Given the description of an element on the screen output the (x, y) to click on. 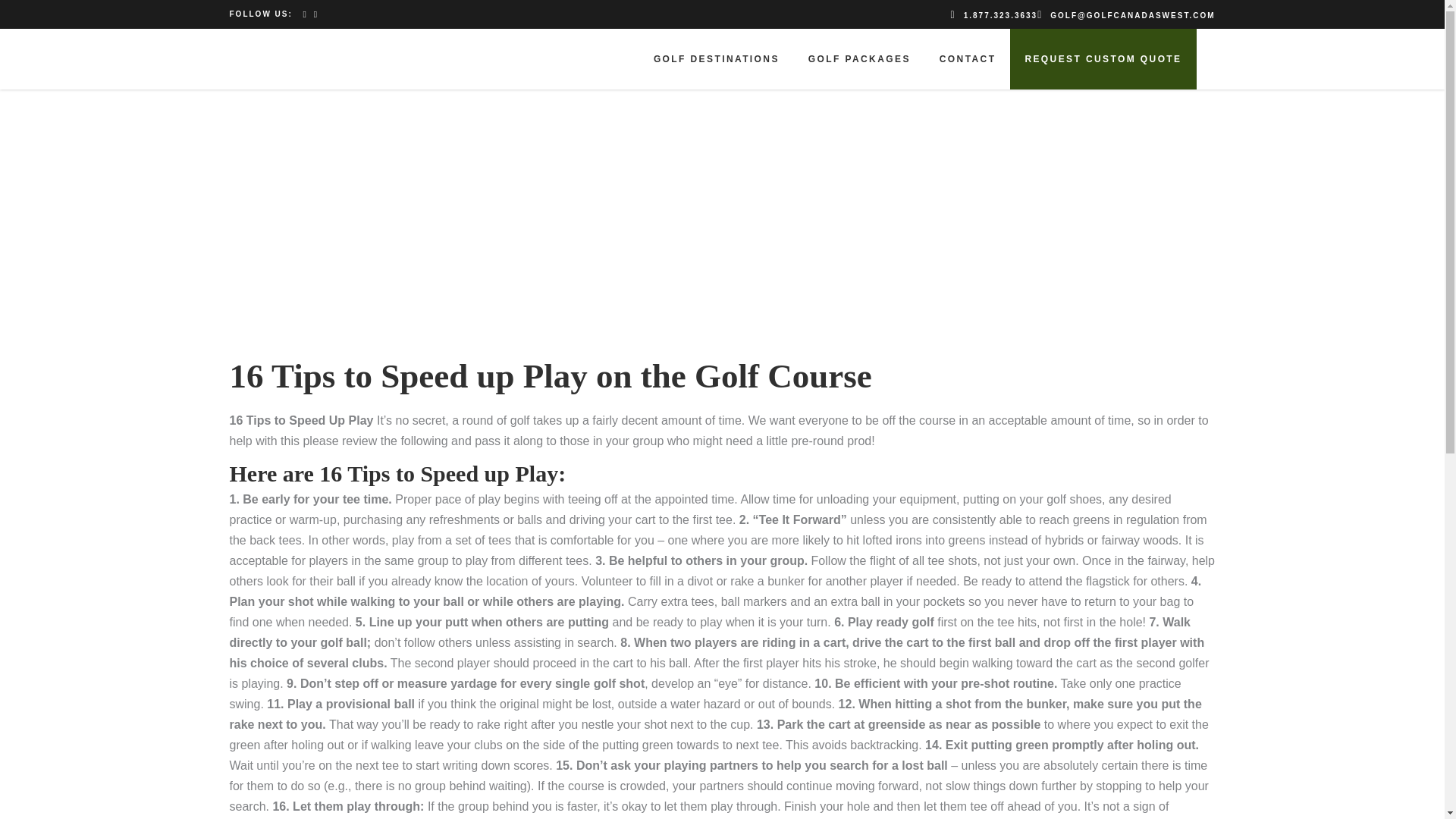
1.877.323.3633 (994, 14)
REQUEST CUSTOM QUOTE (1102, 58)
GOLF DESTINATIONS (716, 58)
CONTACT (967, 58)
GOLF PACKAGES (858, 58)
